Given the description of an element on the screen output the (x, y) to click on. 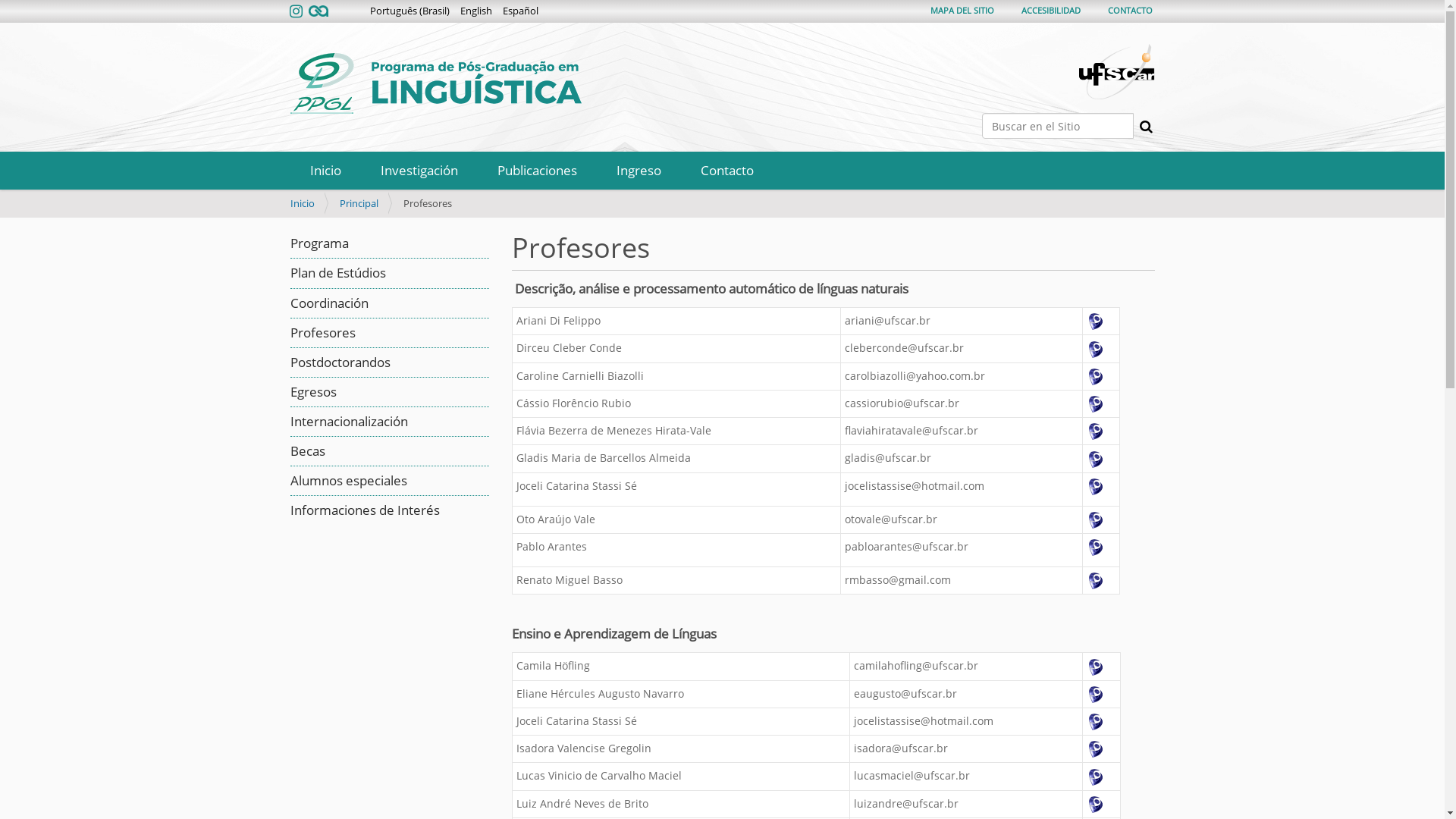
Inicio Element type: text (301, 203)
English Element type: text (475, 10)
LATTES logo.png Element type: hover (1095, 404)
lattes.png Element type: hover (1095, 721)
Publicaciones Element type: text (536, 170)
Ingreso Element type: text (638, 170)
Principal Element type: text (358, 203)
LATTES logo.png Element type: hover (1095, 667)
MAPA DEL SITIO Element type: text (961, 9)
Profesores Element type: text (321, 332)
lattes.png Element type: hover (1095, 580)
LATTES logo.png Element type: hover (1095, 376)
lattes.png Element type: hover (1095, 459)
  Element type: text (1096, 402)
Buscar en el Sitio Element type: hover (1056, 125)
Contacto Element type: text (726, 170)
lattes.png Element type: hover (1095, 694)
lattes.png Element type: hover (1095, 486)
lattes.png Element type: hover (1095, 749)
Portal UFSCar Element type: hover (1116, 71)
Egresos Element type: text (312, 391)
lattes.png Element type: hover (1095, 520)
lattes.png Element type: hover (1095, 431)
lattes.png Element type: hover (1095, 777)
lattes.png Element type: hover (1095, 804)
Instagram Element type: hover (297, 11)
lattes.png Element type: hover (1095, 321)
Programa Element type: text (318, 242)
Becas Element type: text (306, 450)
lattes.png Element type: hover (1095, 547)
Alumni Element type: hover (315, 11)
Postdoctorandos Element type: text (339, 361)
  Element type: text (1096, 375)
lattes.png Element type: hover (1095, 349)
ACCESIBILIDAD Element type: text (1049, 9)
  Element type: text (1096, 665)
Inicio Element type: text (324, 170)
Alumnos especiales Element type: text (347, 480)
CONTACTO Element type: text (1129, 9)
